Given the description of an element on the screen output the (x, y) to click on. 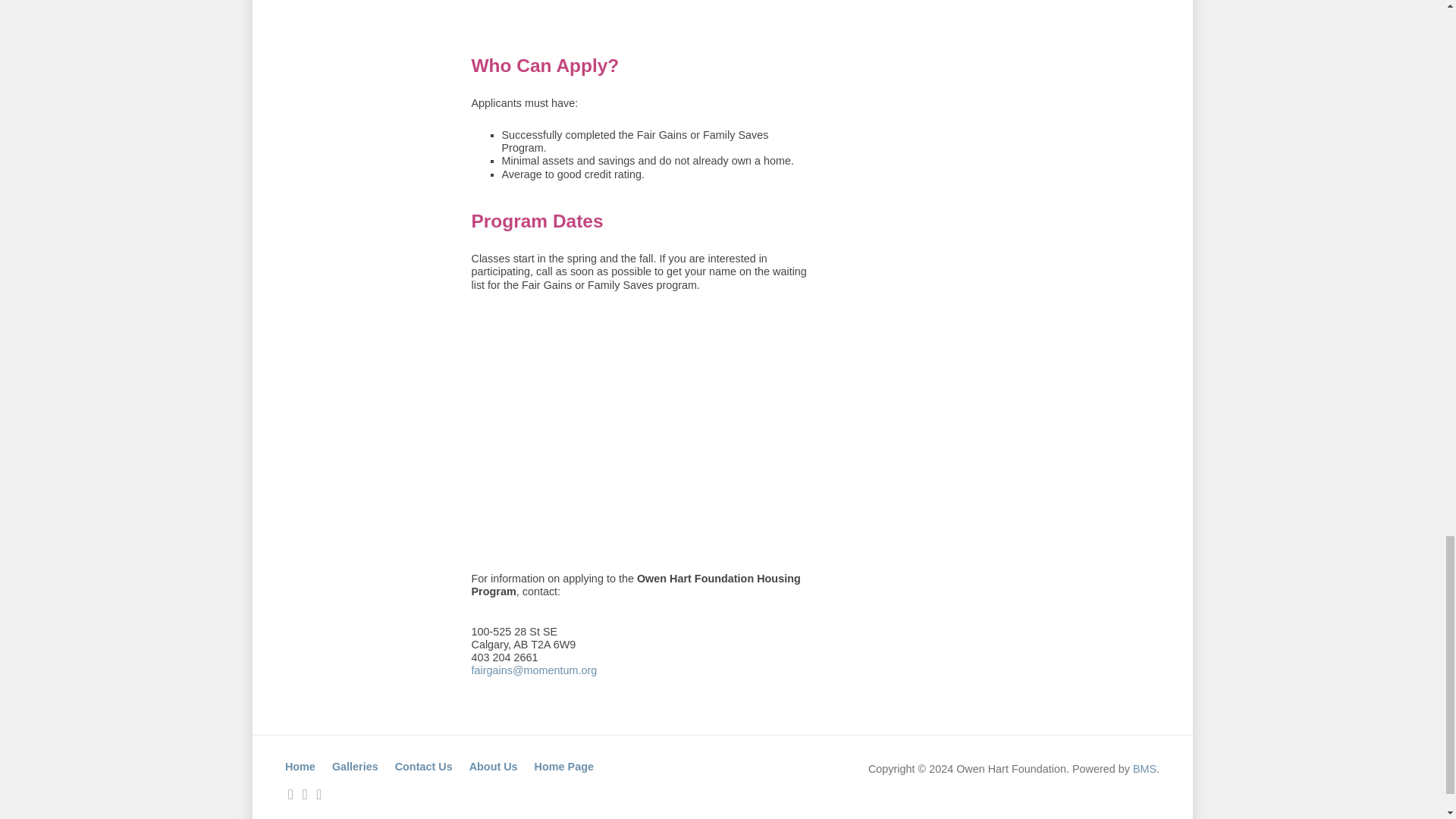
logo (584, 432)
